Given the description of an element on the screen output the (x, y) to click on. 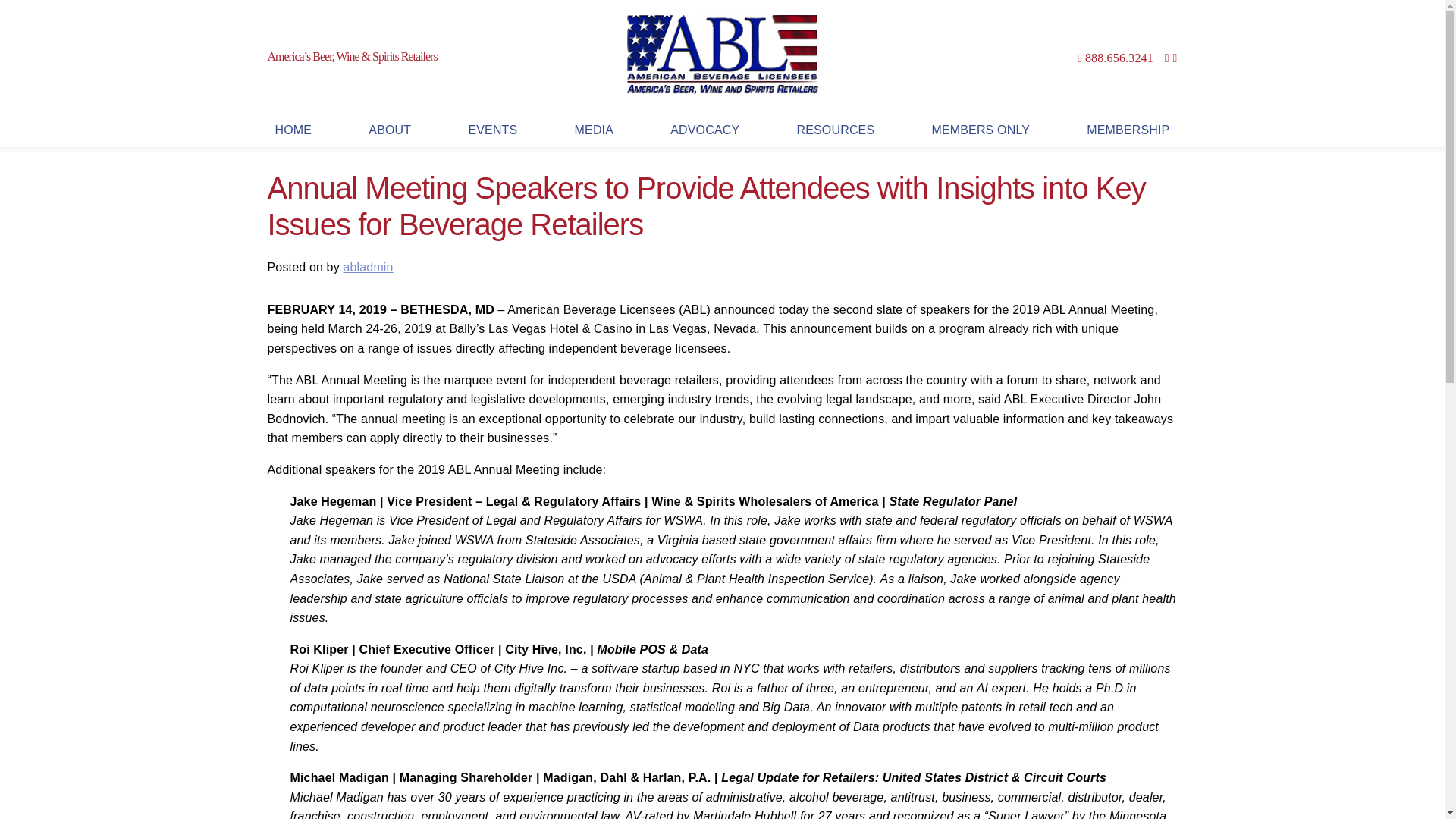
EVENTS (492, 130)
ABOUT (390, 130)
888.656.3241 (1118, 57)
HOME (292, 130)
MEMBERS ONLY (979, 130)
ADVOCACY (704, 130)
MEDIA (594, 130)
RESOURCES (835, 130)
